Given the description of an element on the screen output the (x, y) to click on. 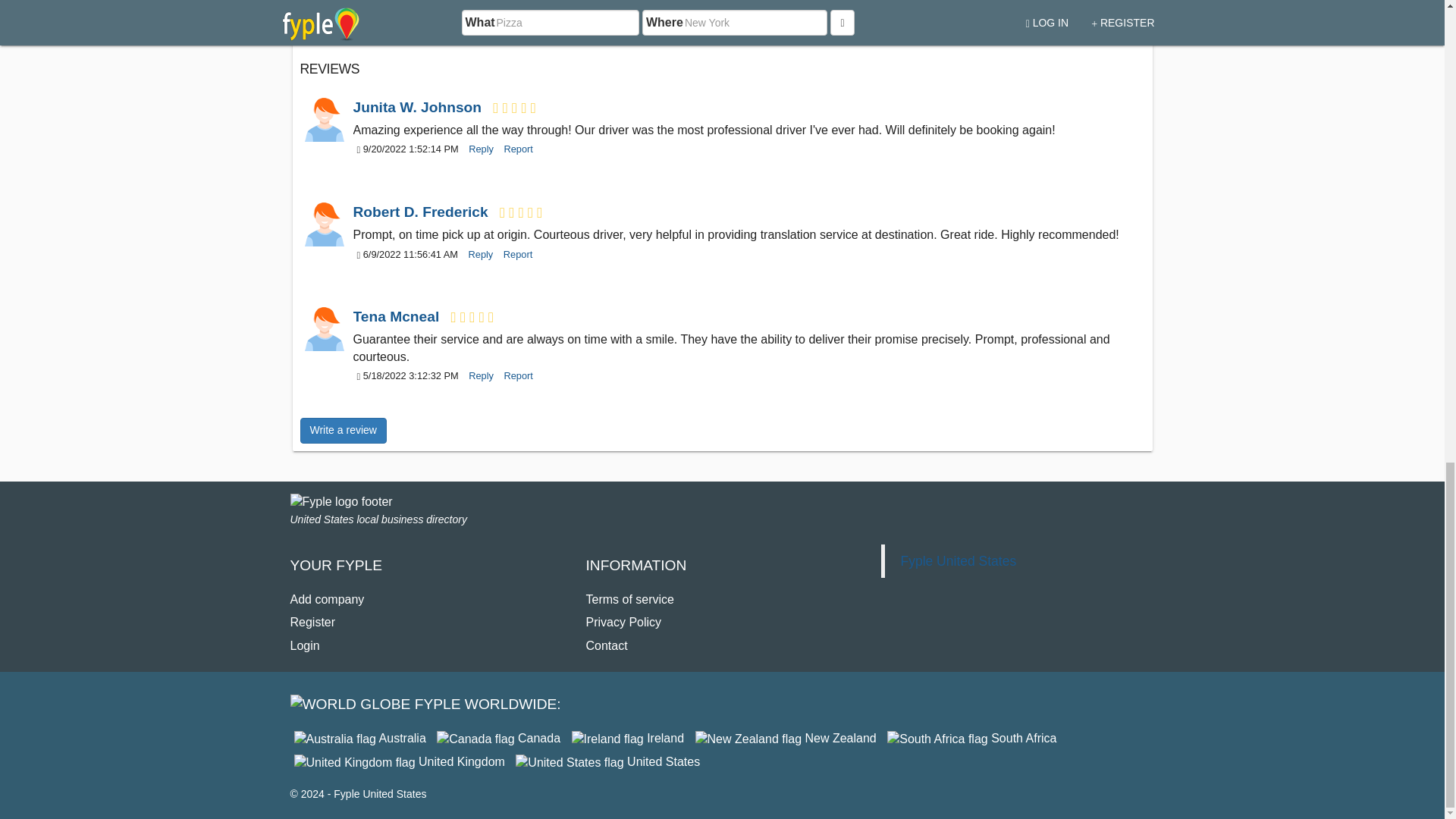
Fyple New Zealand (785, 738)
Tena Mcneal (322, 329)
Fyple United States (607, 761)
Reply (477, 254)
Robert D. Frederick (422, 211)
Tena Mcneal (398, 316)
Fyple United Kingdom (399, 761)
Report (514, 375)
Junita W. Johnson (322, 120)
Robert D. Frederick (322, 225)
Write a review (343, 430)
Report (514, 148)
Junita W. Johnson (419, 107)
Reply (477, 148)
Add company (326, 599)
